Given the description of an element on the screen output the (x, y) to click on. 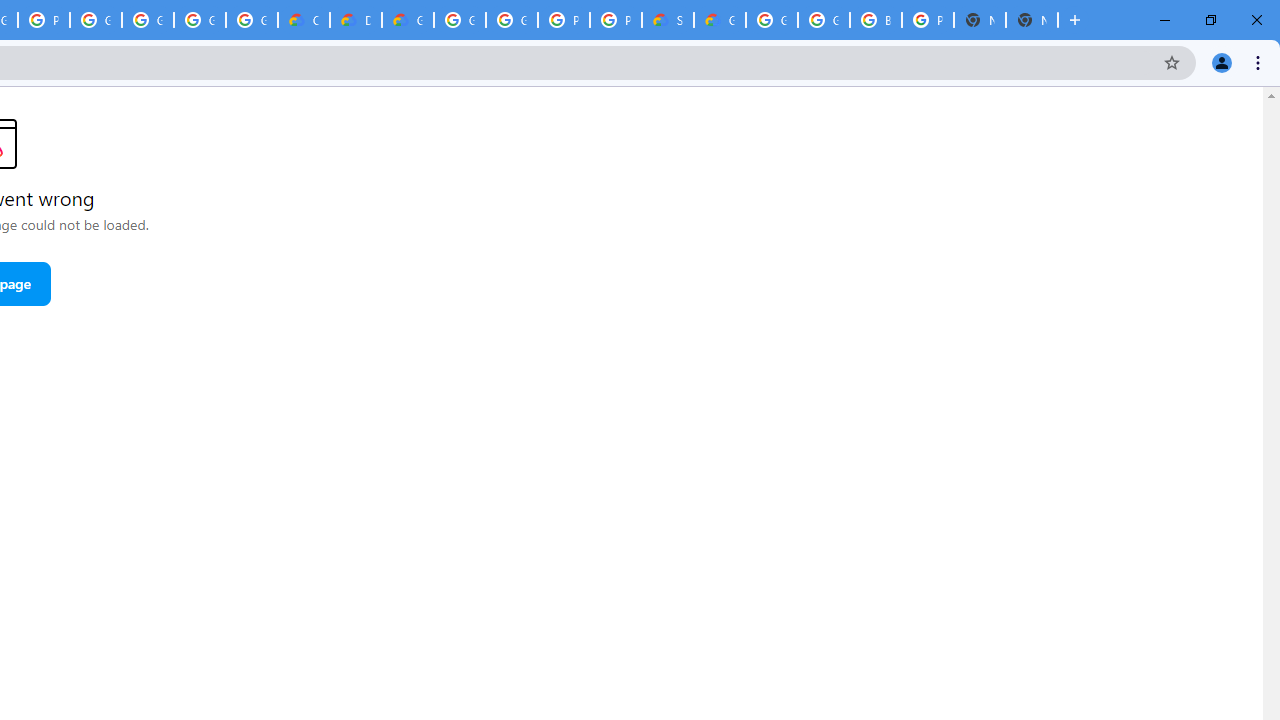
Google Workspace - Specific Terms (200, 20)
Google Cloud Platform (511, 20)
Google Cloud Platform (823, 20)
